Given the description of an element on the screen output the (x, y) to click on. 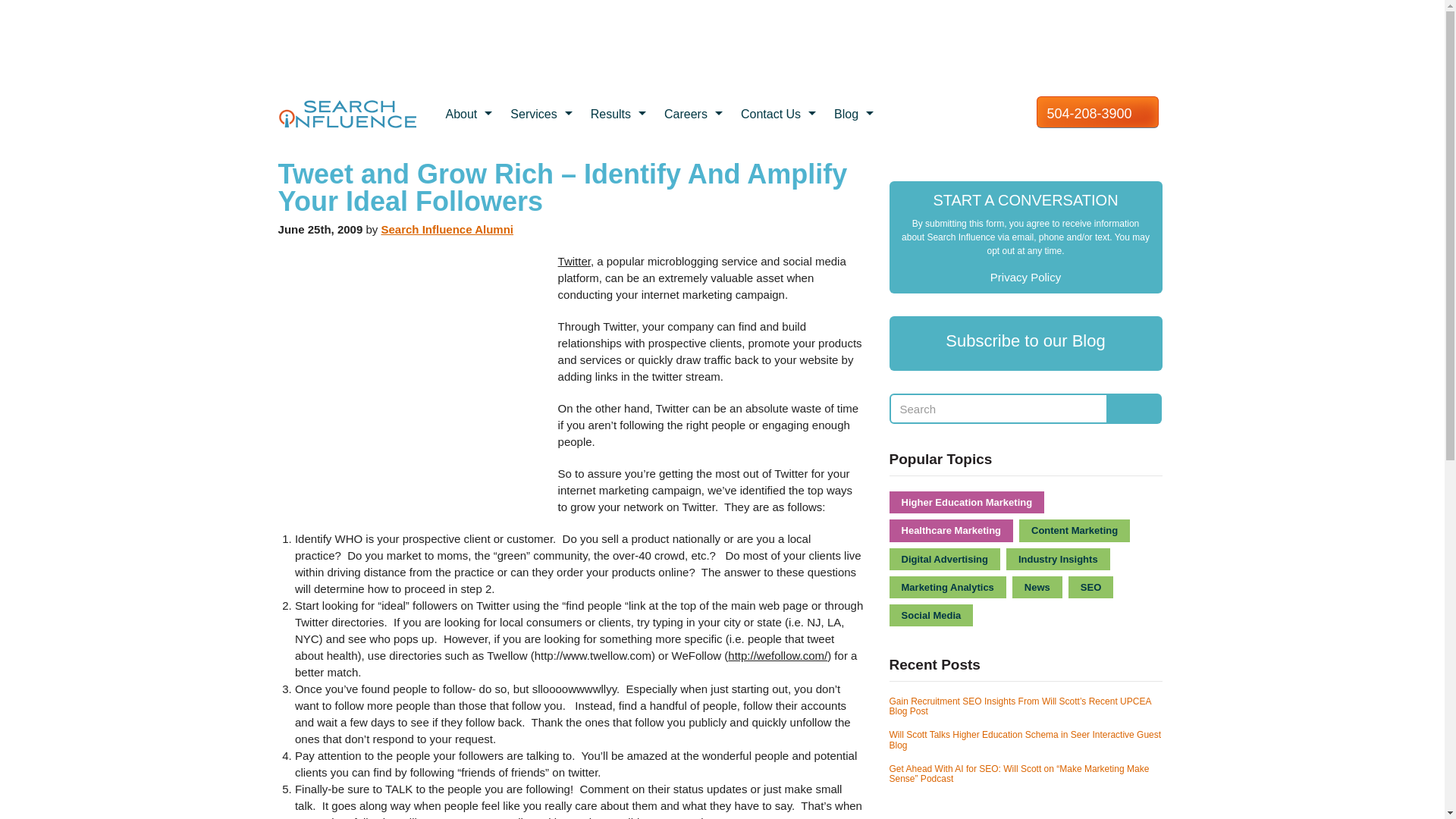
About (470, 114)
Blog (856, 114)
Results (620, 114)
Careers (695, 114)
Services (543, 114)
Contact Us (780, 114)
Search (998, 408)
